Given the description of an element on the screen output the (x, y) to click on. 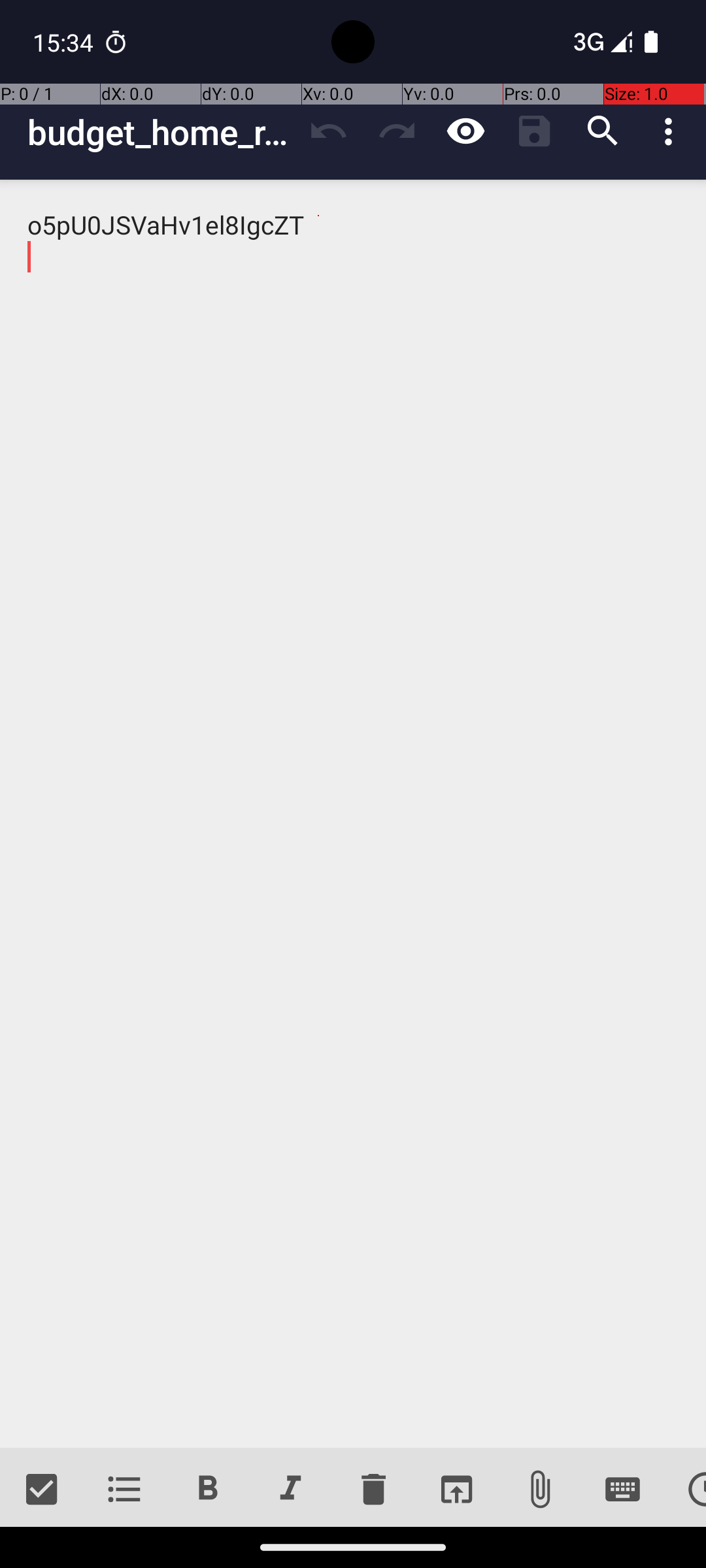
budget_home_renovation_final Element type: android.widget.TextView (160, 131)
o5pU0JSVaHv1el8IgcZT
 Element type: android.widget.EditText (353, 813)
